Given the description of an element on the screen output the (x, y) to click on. 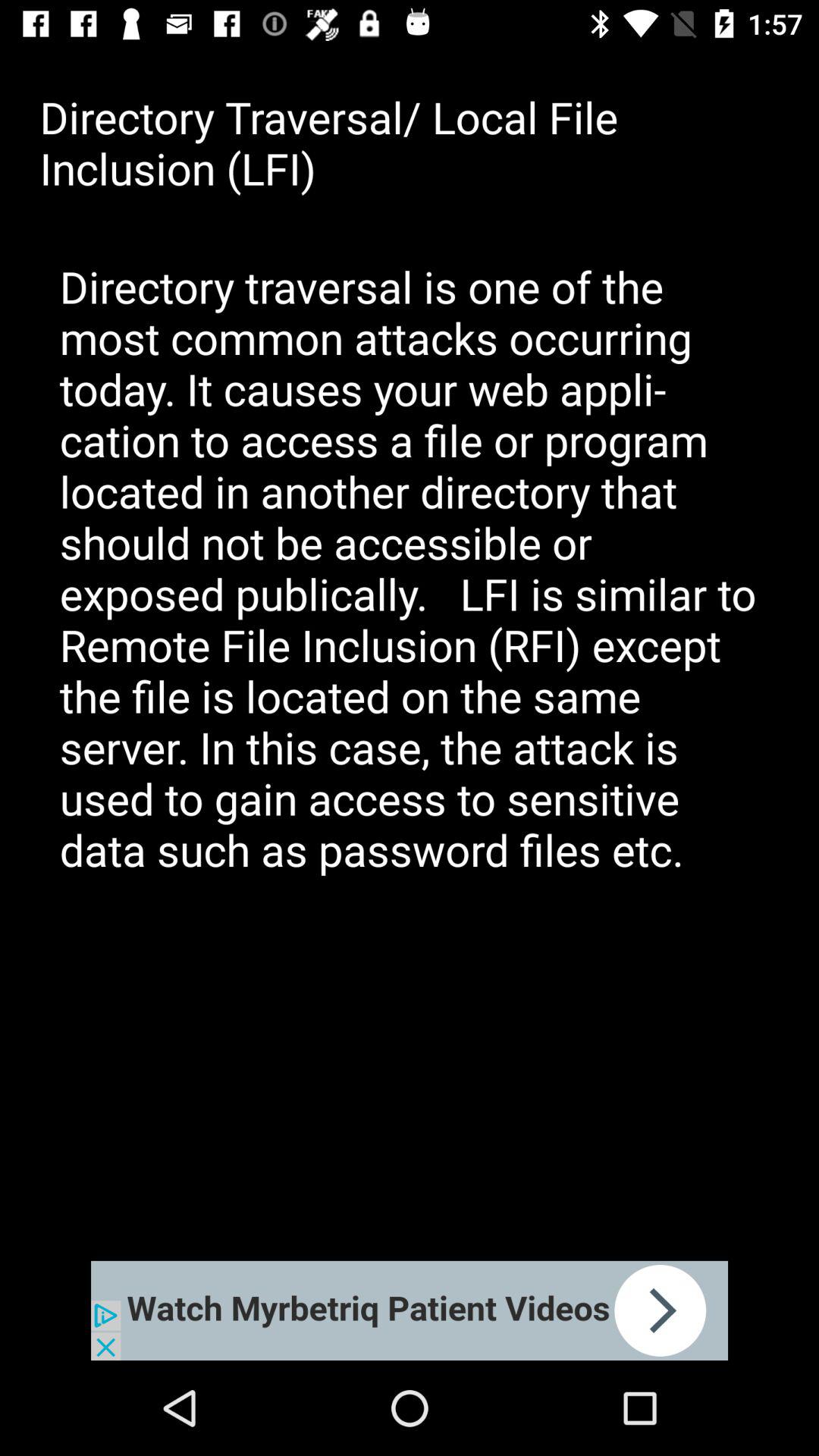
open an advertisements (409, 1310)
